Given the description of an element on the screen output the (x, y) to click on. 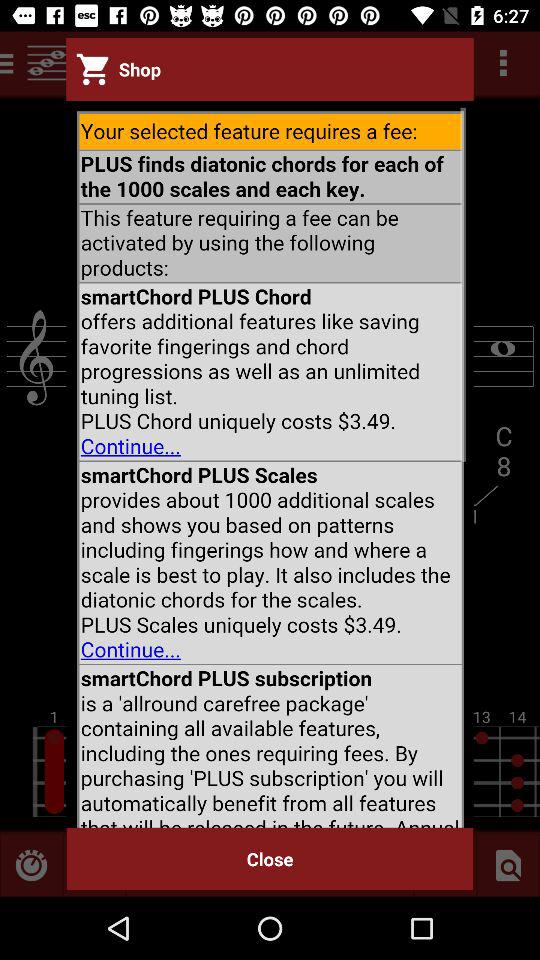
front of the page (269, 463)
